Given the description of an element on the screen output the (x, y) to click on. 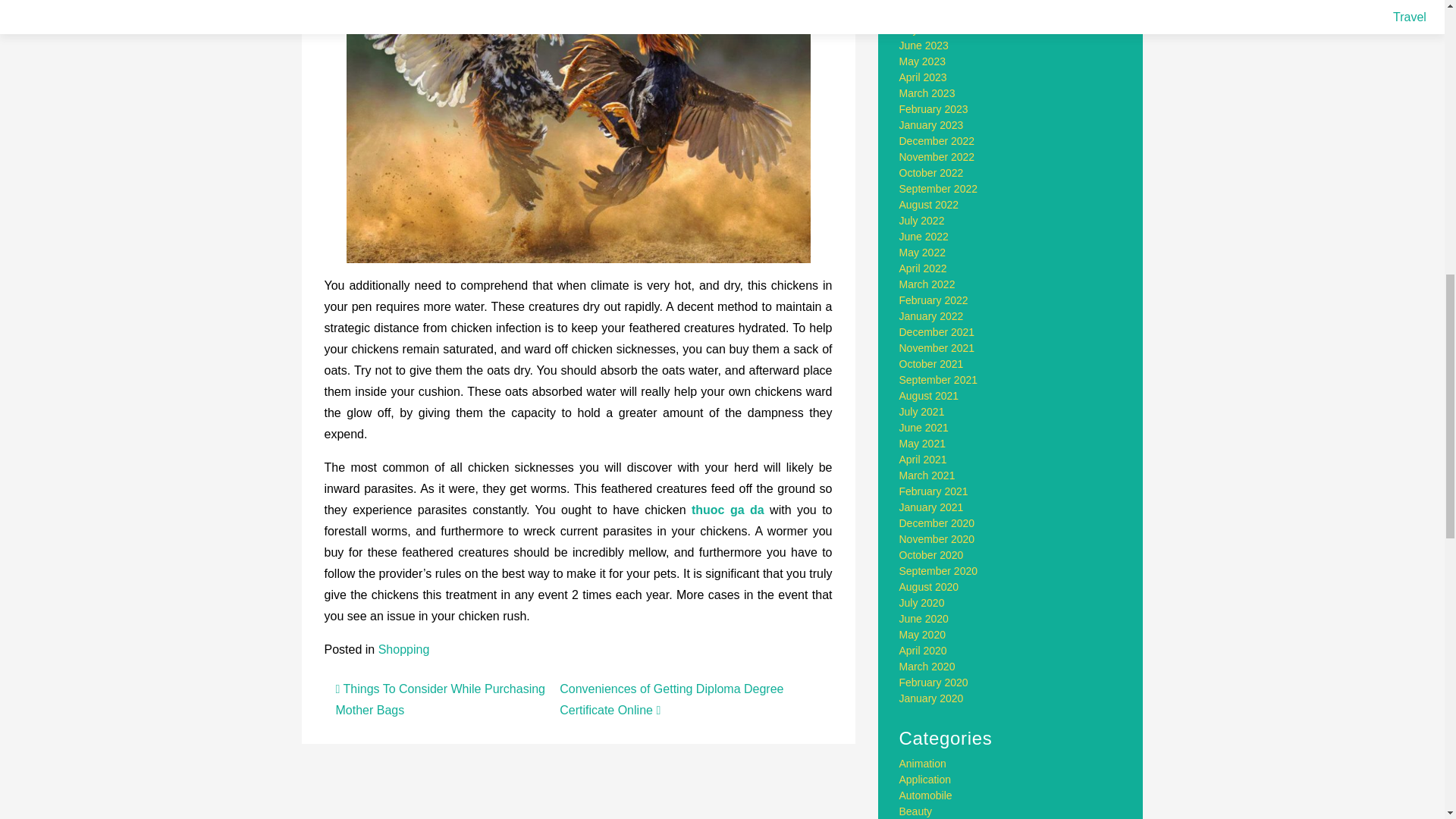
October 2022 (931, 173)
January 2023 (931, 124)
December 2022 (937, 141)
Conveniences of Getting Diploma Degree Certificate Online  (671, 699)
April 2023 (923, 77)
August 2023 (929, 13)
September 2023 (938, 2)
July 2022 (921, 220)
July 2023 (921, 29)
September 2022 (938, 188)
